Given the description of an element on the screen output the (x, y) to click on. 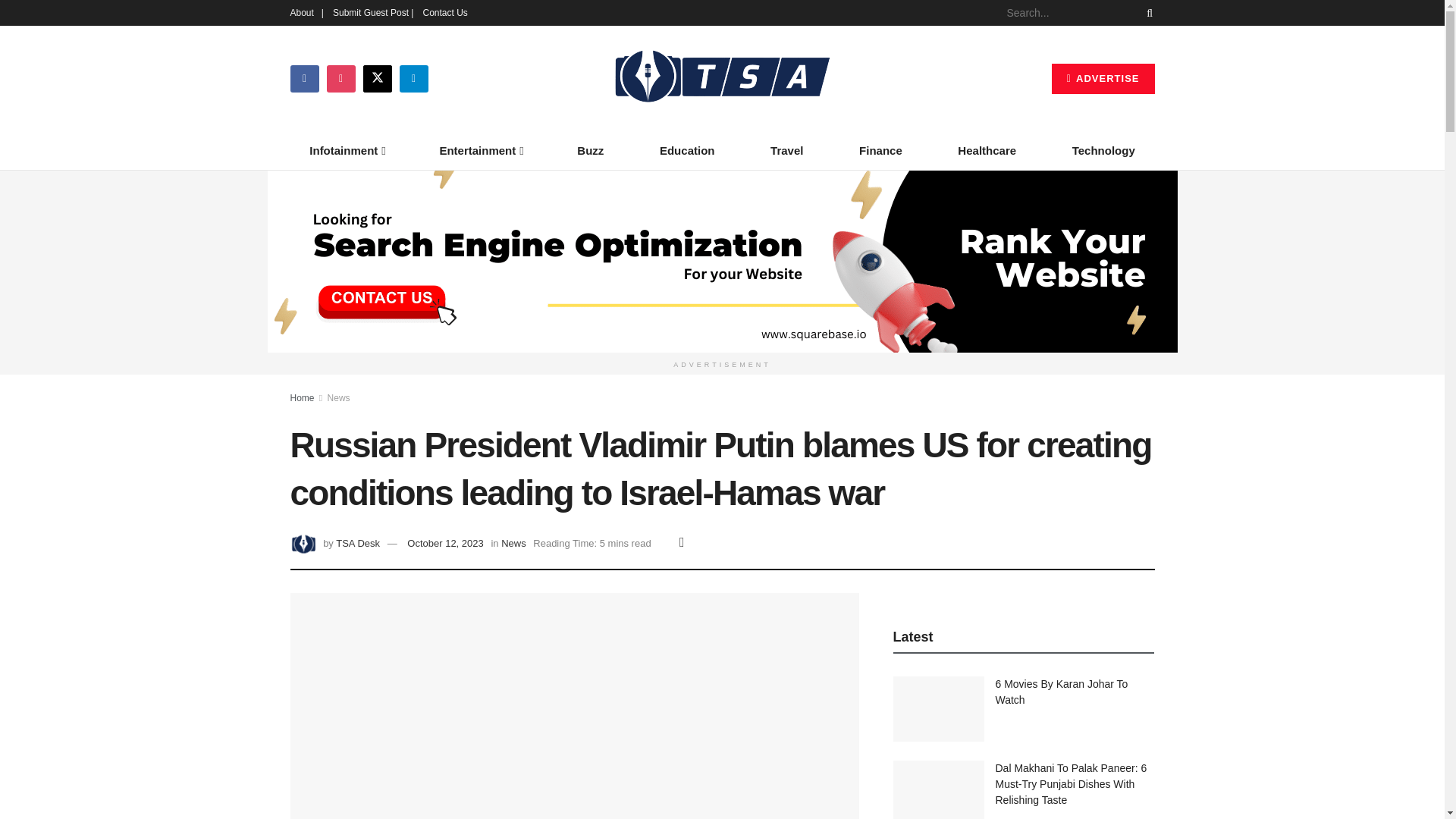
Travel (786, 150)
ADVERTISE (1102, 78)
Finance (880, 150)
Contact Us (444, 12)
Healthcare (987, 150)
Buzz (590, 150)
Home (301, 398)
Infotainment (346, 150)
News (338, 398)
Education (686, 150)
